Given the description of an element on the screen output the (x, y) to click on. 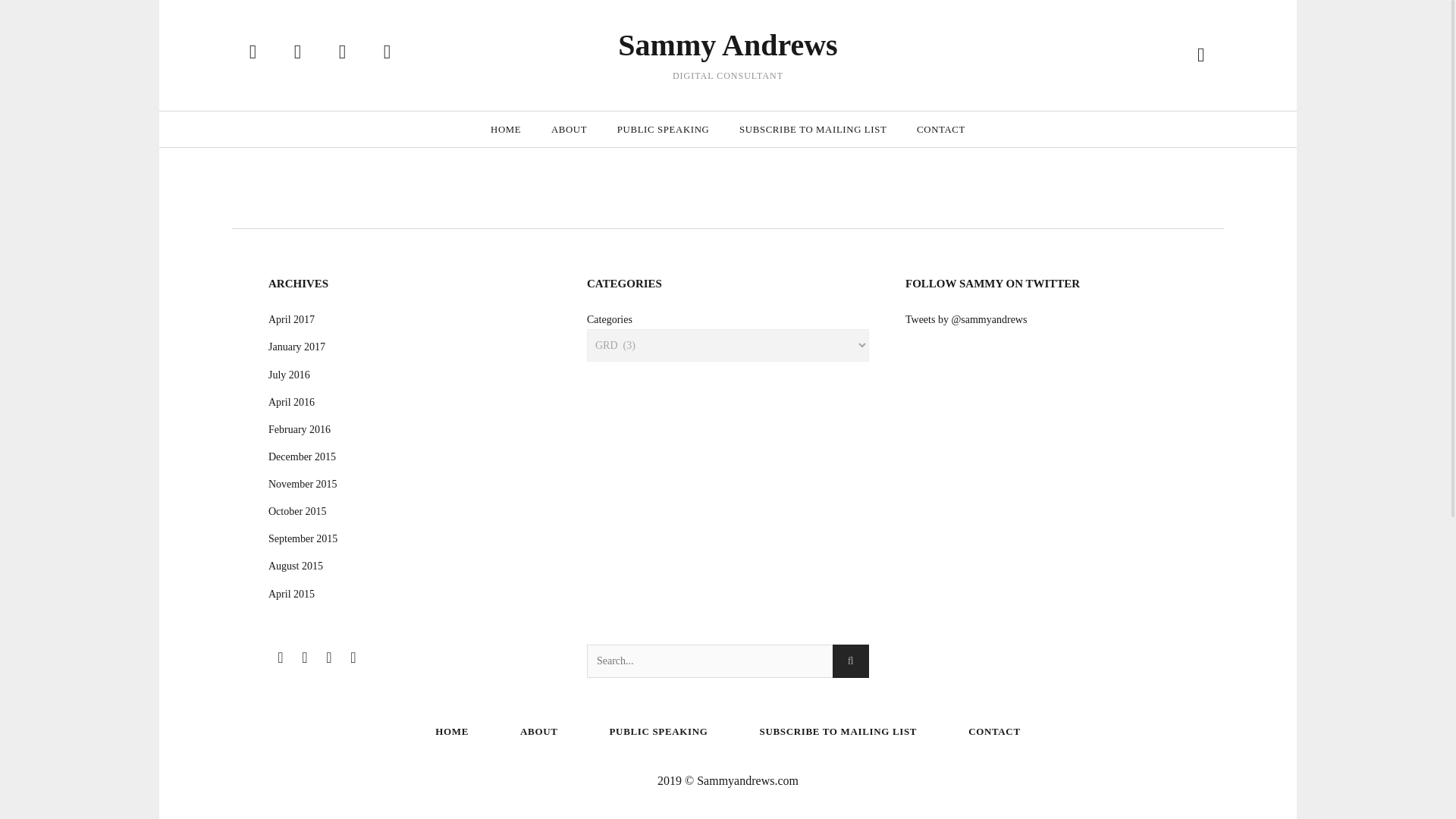
TECH (871, 17)
0 (337, 51)
STREAMING (826, 17)
DIGITAL MARKETTING (742, 4)
View all posts in Digital Marketting (742, 4)
MUSIC INDUSTRY (758, 17)
View all posts in Global Rights Database (851, 4)
GRD (705, 17)
GLOBAL RIGHTS DATABASE (851, 4)
0 (572, 90)
